Given the description of an element on the screen output the (x, y) to click on. 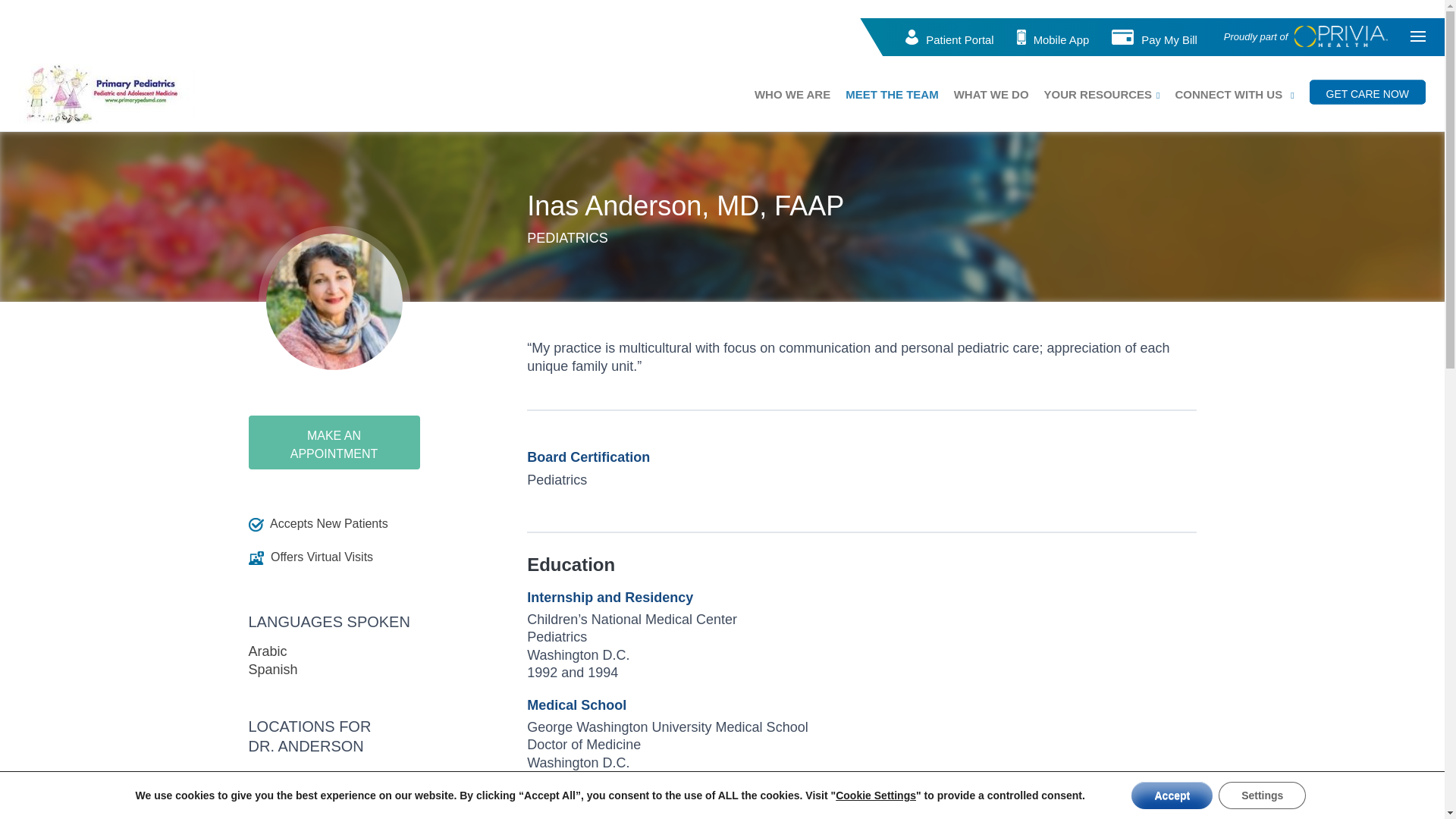
Patient Portal (959, 39)
GET CARE NOW (1366, 91)
WHAT WE DO (991, 92)
WHO WE ARE (791, 92)
Pay My Bill (1168, 39)
YOUR RESOURCES (1098, 92)
Mobile App (1061, 39)
MEET THE TEAM (892, 92)
CONNECT WITH US (1228, 92)
